Given the description of an element on the screen output the (x, y) to click on. 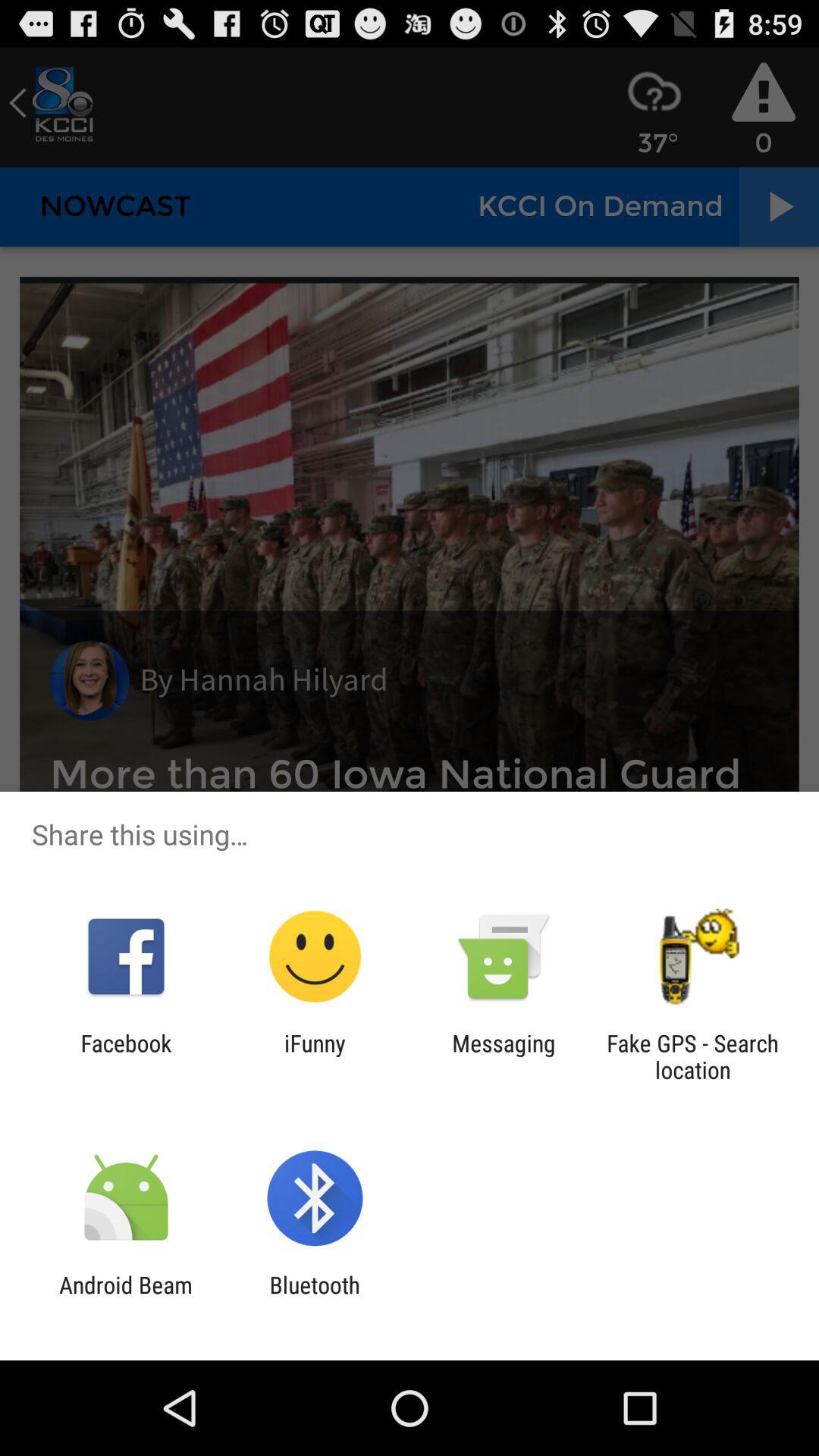
turn on the item next to the android beam (314, 1298)
